Given the description of an element on the screen output the (x, y) to click on. 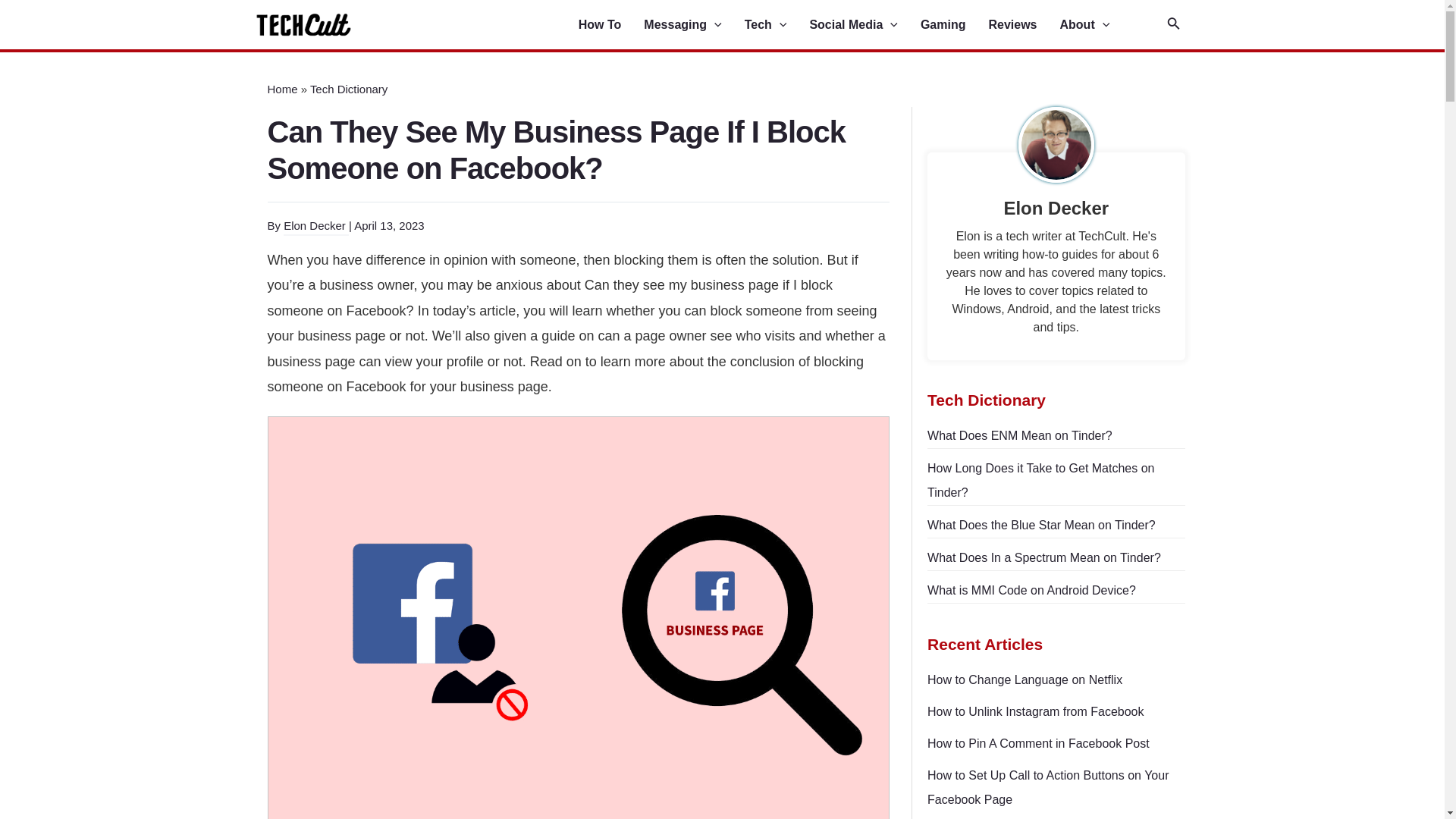
How To (611, 25)
About (1095, 25)
Tech (776, 25)
Home (281, 88)
Messaging (693, 25)
Social Media (864, 25)
Reviews (1023, 25)
View all posts by Elon Decker (316, 226)
Gaming (954, 25)
